Given the description of an element on the screen output the (x, y) to click on. 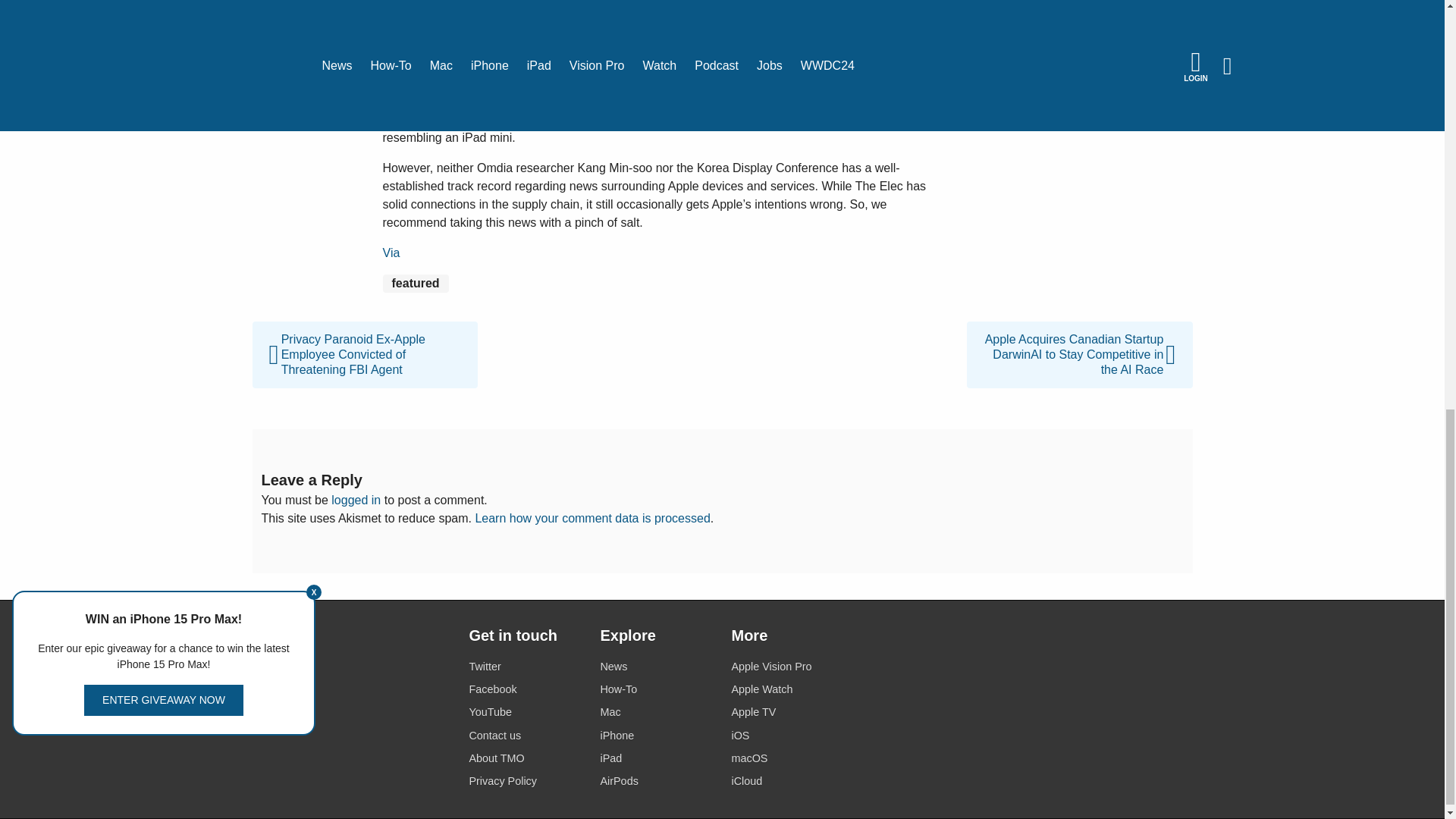
Facebook (524, 689)
Privacy Policy (524, 781)
iPhone (656, 735)
iPad (656, 758)
News (656, 666)
About TMO (524, 758)
YouTube (524, 711)
logged in (355, 499)
How-To (656, 689)
Via (389, 252)
featured (414, 283)
Mac (656, 711)
Twitter (524, 666)
Contact us (524, 735)
